Given the description of an element on the screen output the (x, y) to click on. 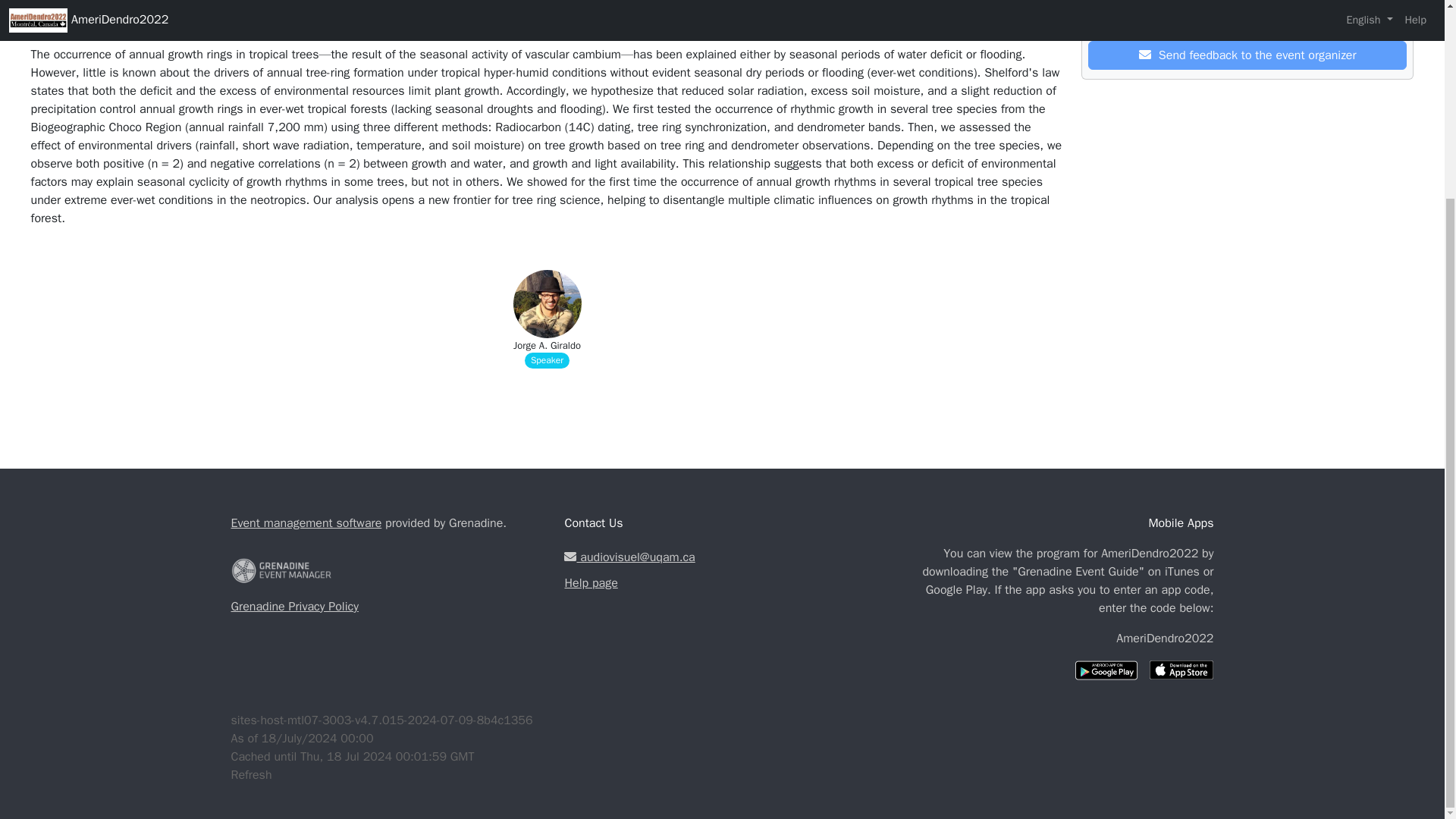
Jorge A. Giraldo (546, 345)
0 (1268, 16)
0 (1226, 16)
Theme (150, 15)
